Given the description of an element on the screen output the (x, y) to click on. 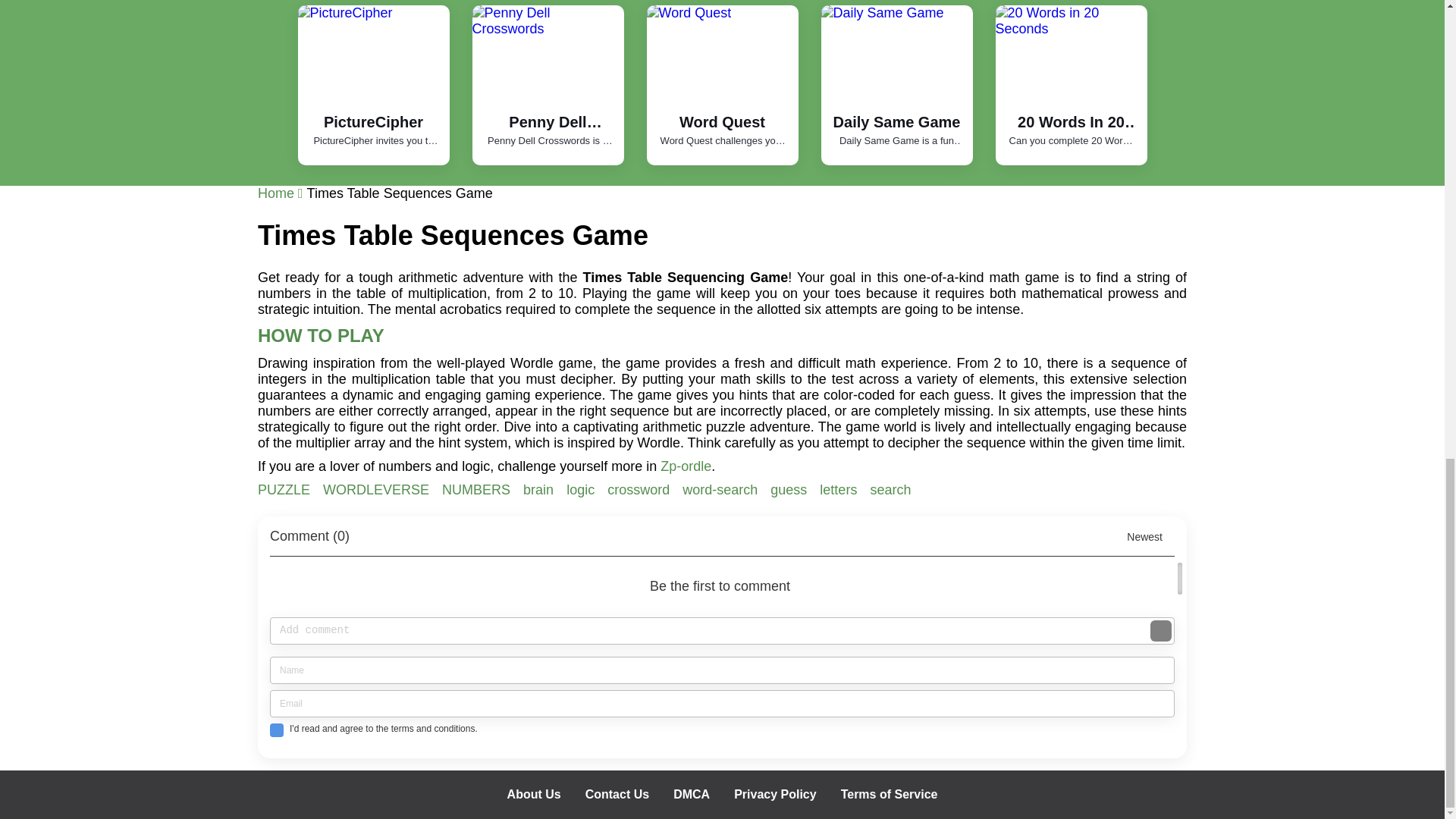
brain (539, 489)
Home (282, 193)
guess (790, 489)
Be the first to comment (725, 578)
PUZZLE (285, 489)
Logic (582, 489)
search (890, 489)
NUMBERS (477, 489)
Brain (539, 489)
word-search (721, 489)
